Given the description of an element on the screen output the (x, y) to click on. 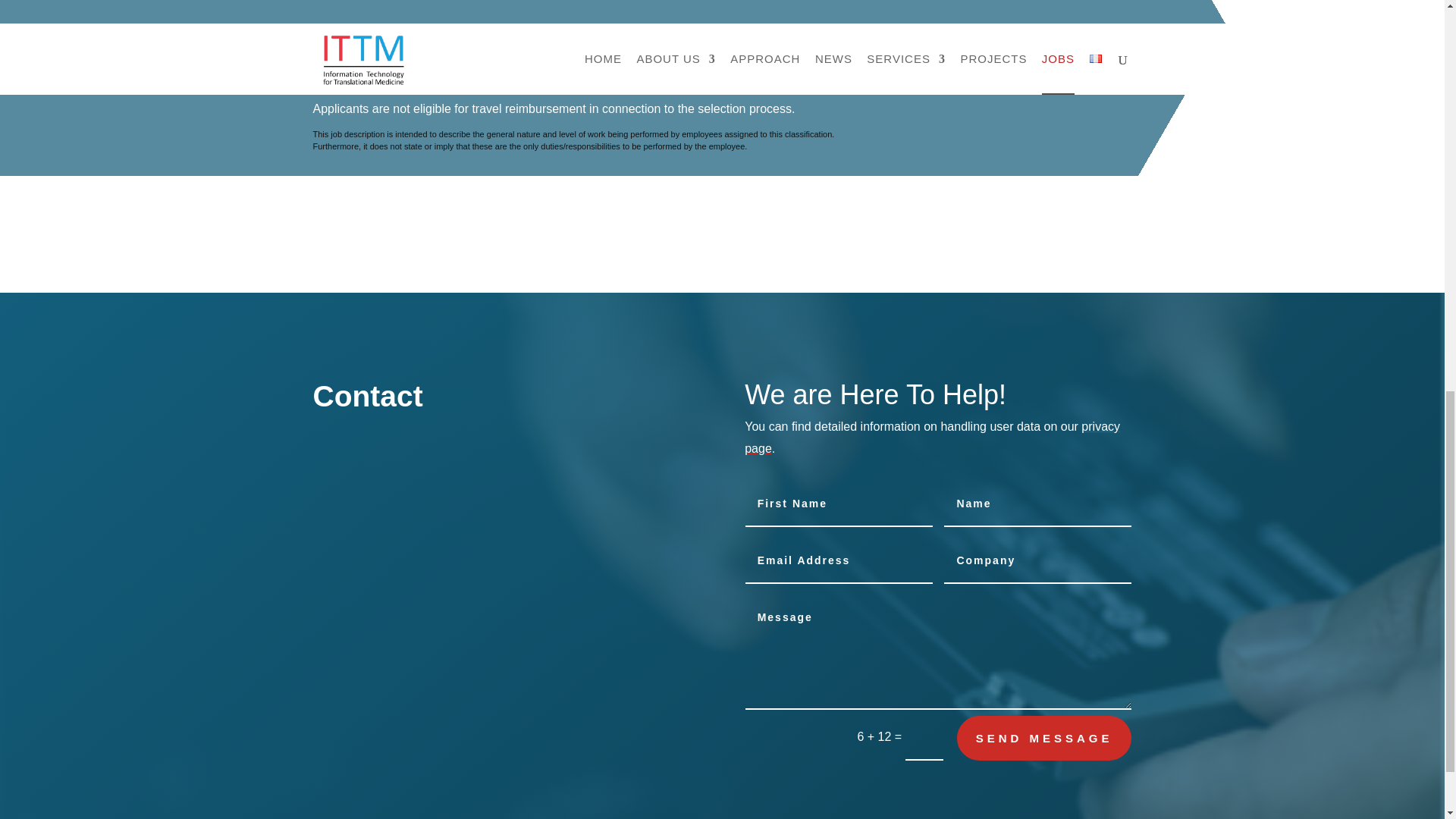
SEND MESSAGE (1044, 737)
privacy settings (931, 437)
privacy page (931, 437)
